Given the description of an element on the screen output the (x, y) to click on. 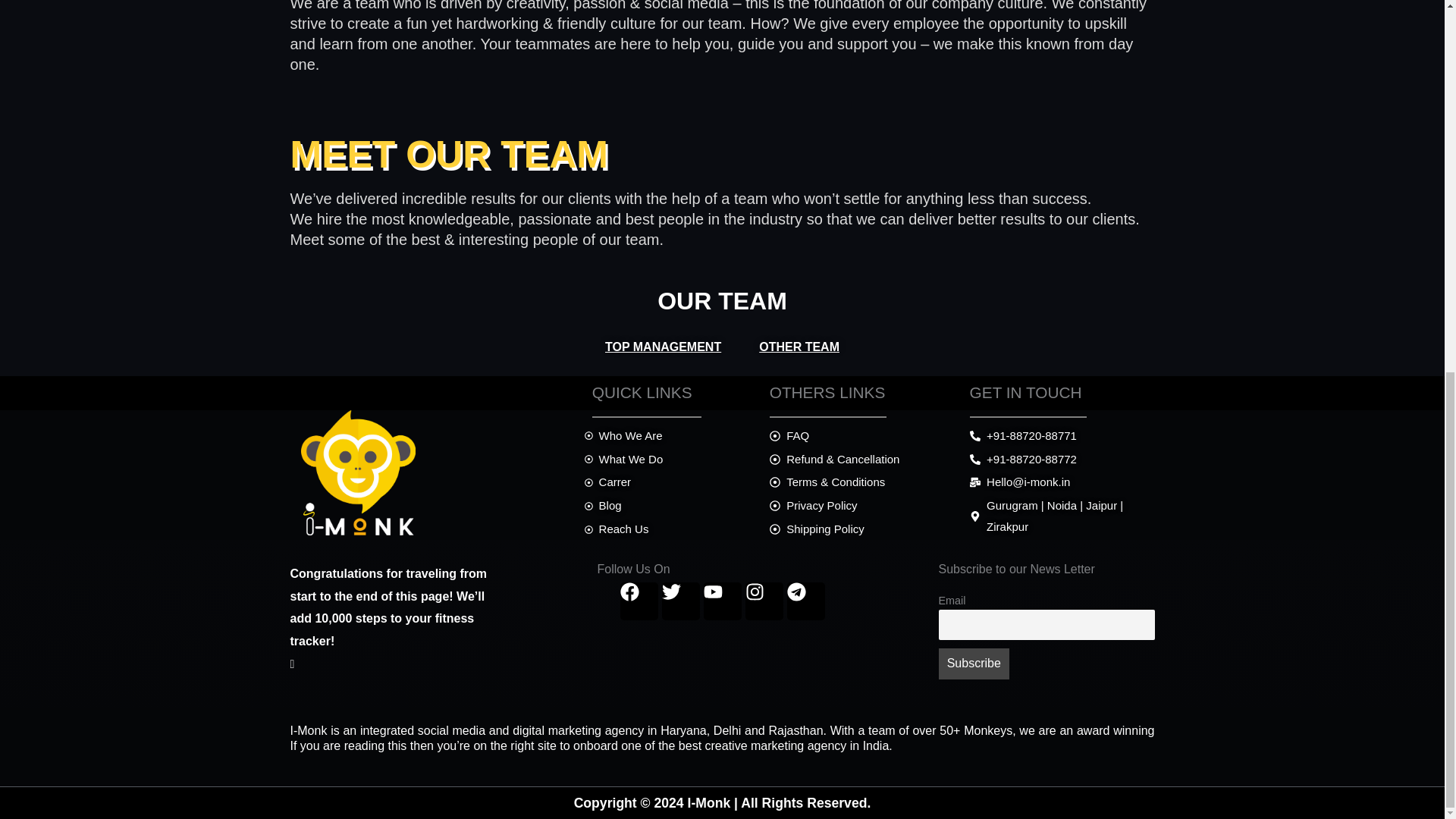
Reach Us (669, 528)
Who We Are (669, 435)
Carrer (669, 482)
Blog (669, 505)
Privacy Policy (862, 505)
Shipping Policy (862, 528)
Subscribe (974, 663)
What We Do (669, 459)
FAQ (862, 435)
